Given the description of an element on the screen output the (x, y) to click on. 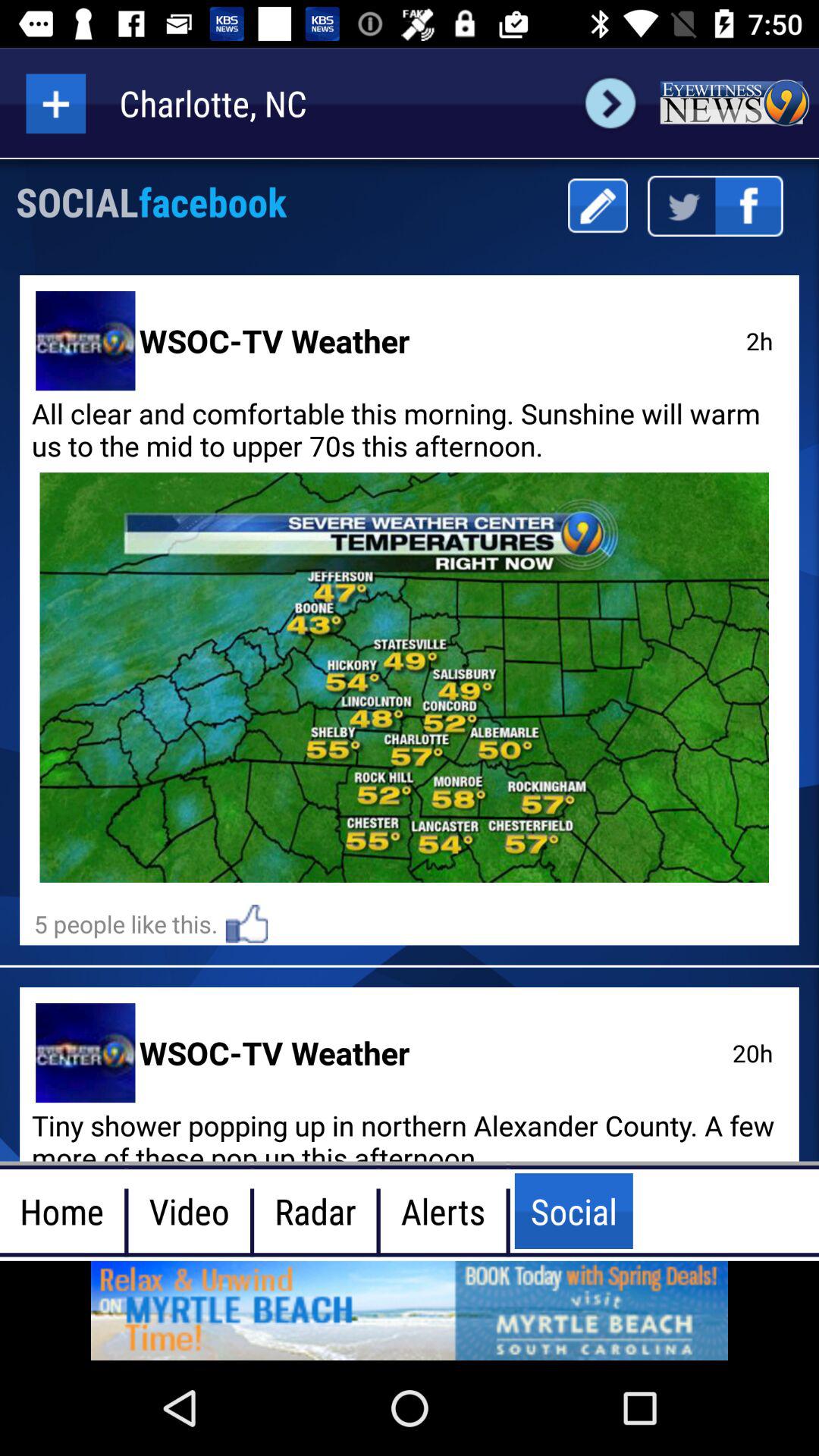
add option (55, 103)
